Given the description of an element on the screen output the (x, y) to click on. 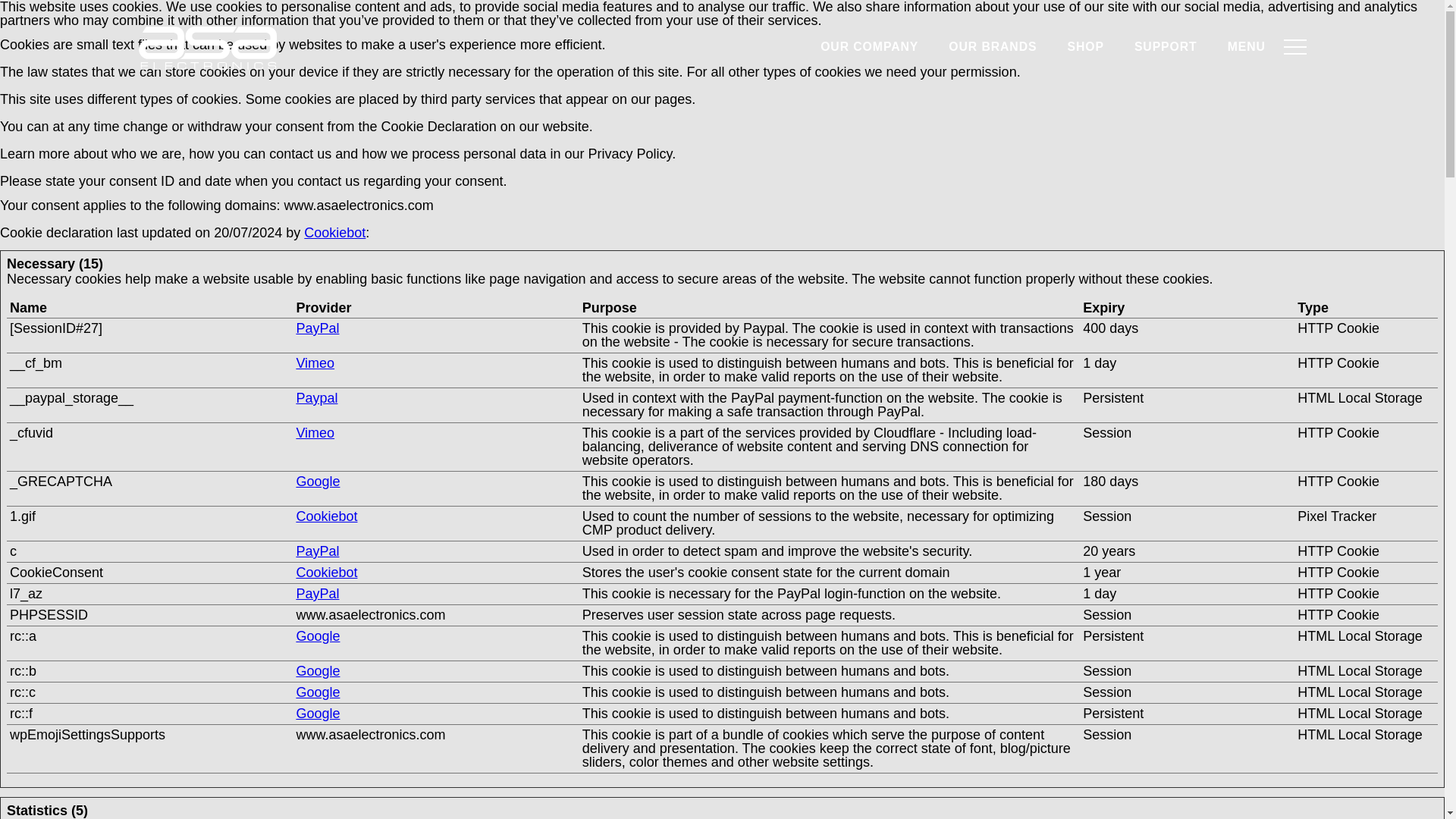
Paypal's privacy policy (316, 397)
PayPal (317, 593)
PayPal (317, 328)
PayPal's privacy policy (317, 550)
Cookiebot's privacy policy (325, 516)
PayPal's privacy policy (317, 328)
Google's privacy policy (317, 713)
Vimeo (314, 363)
Google (317, 713)
Cookiebot (334, 232)
